Given the description of an element on the screen output the (x, y) to click on. 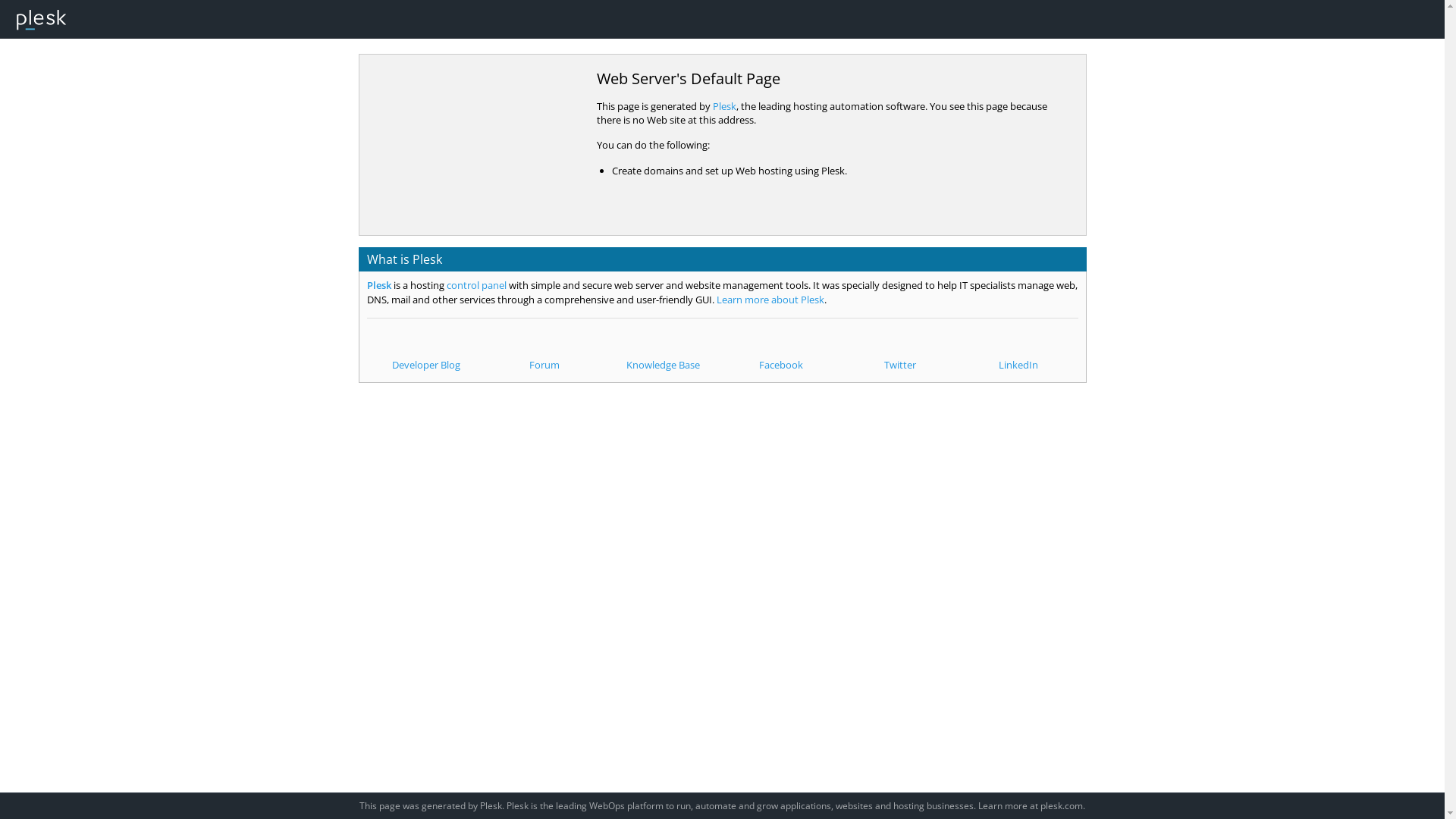
Plesk Element type: text (379, 284)
Knowledge Base Element type: text (662, 350)
Plesk Element type: text (724, 105)
LinkedIn Element type: text (1018, 350)
Learn more about Plesk Element type: text (769, 299)
Facebook Element type: text (781, 350)
Twitter Element type: text (900, 350)
Forum Element type: text (544, 350)
Developer Blog Element type: text (426, 350)
control panel Element type: text (475, 284)
plesk.com Element type: text (1061, 805)
